Given the description of an element on the screen output the (x, y) to click on. 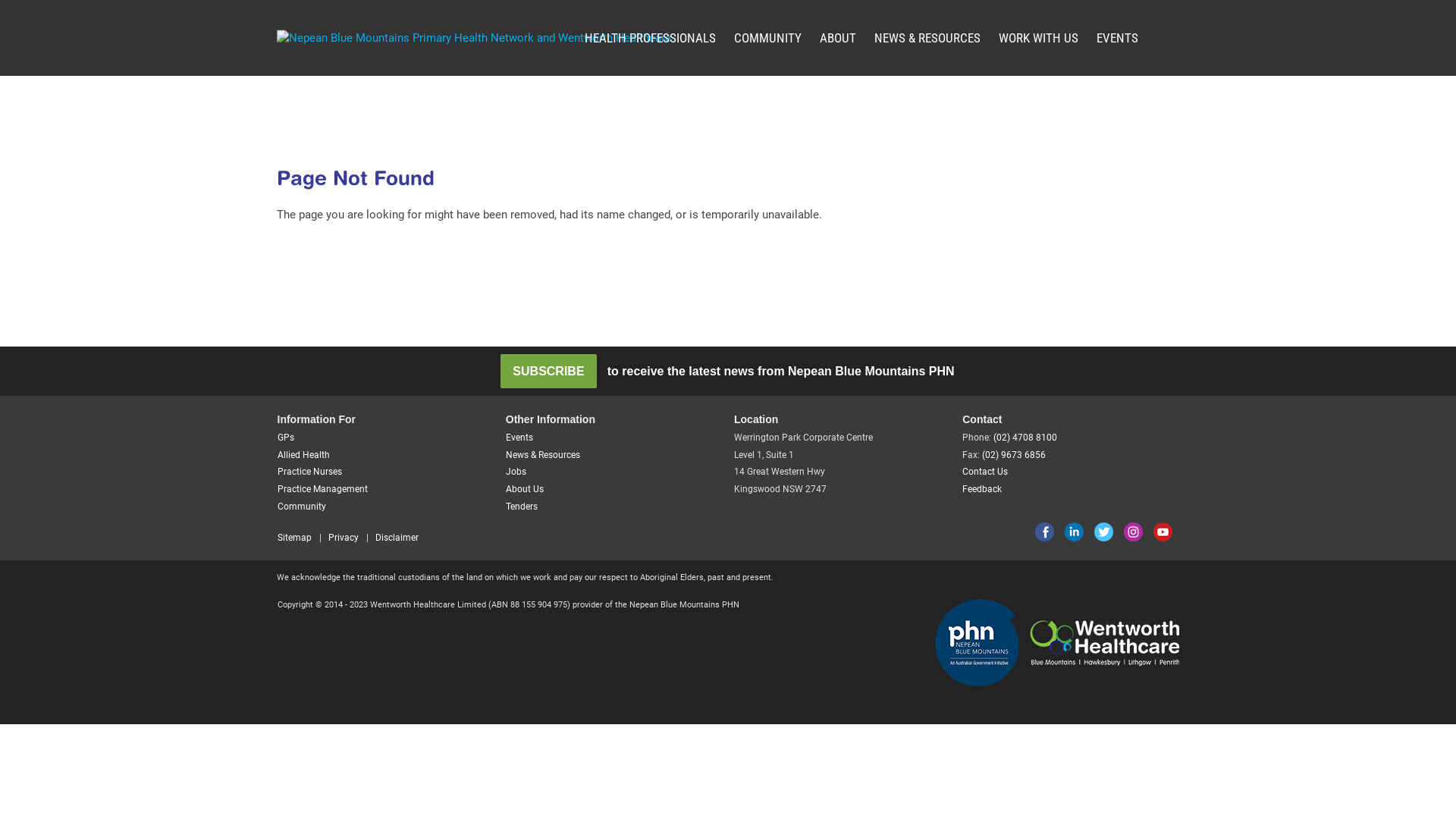
Jobs Element type: text (515, 471)
News & Resources Element type: text (542, 454)
Disclaimer Element type: text (395, 537)
EVENTS Element type: text (1117, 38)
WORK WITH US Element type: text (1037, 38)
(02) 4708 8100 Element type: text (1025, 437)
Contact Us Element type: text (984, 471)
HEALTH PROFESSIONALS Element type: text (649, 38)
Sitemap Element type: text (294, 537)
Community Element type: text (301, 506)
Events Element type: text (519, 437)
Tenders Element type: text (521, 506)
GPs Element type: text (285, 437)
Practice Nurses Element type: text (309, 471)
About Us Element type: text (524, 488)
ABOUT Element type: text (836, 38)
(02) 9673 6856 Element type: text (1013, 454)
NEWS & RESOURCES Element type: text (926, 38)
COMMUNITY Element type: text (767, 38)
SUBSCRIBE Element type: text (548, 371)
Privacy Element type: text (342, 537)
Practice Management Element type: text (322, 488)
Feedback Element type: text (981, 488)
Allied Health Element type: text (303, 454)
